Given the description of an element on the screen output the (x, y) to click on. 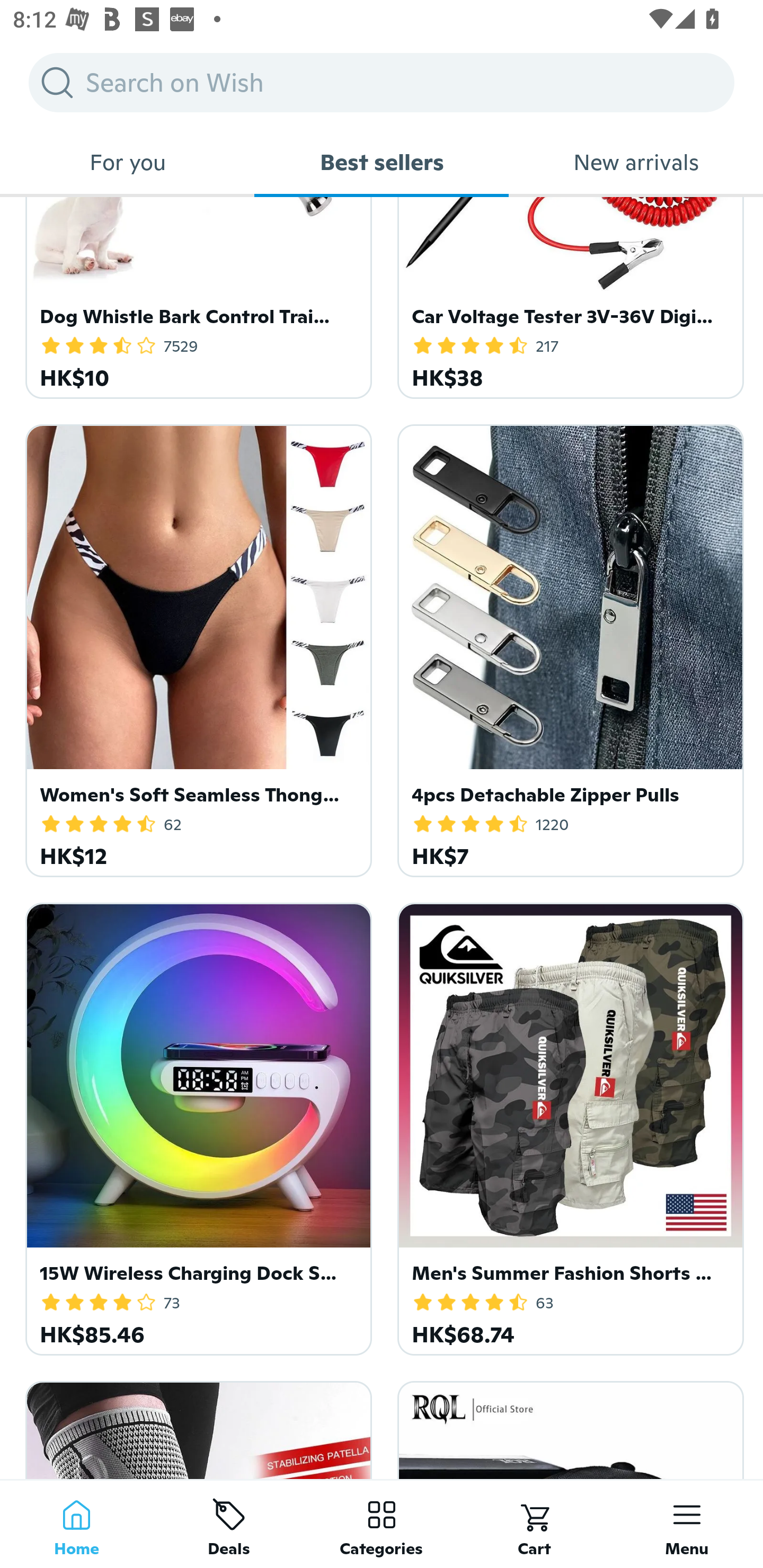
Search on Wish (381, 82)
For you (127, 161)
Best sellers (381, 161)
New arrivals (635, 161)
Home (76, 1523)
Deals (228, 1523)
Categories (381, 1523)
Cart (533, 1523)
Menu (686, 1523)
